Given the description of an element on the screen output the (x, y) to click on. 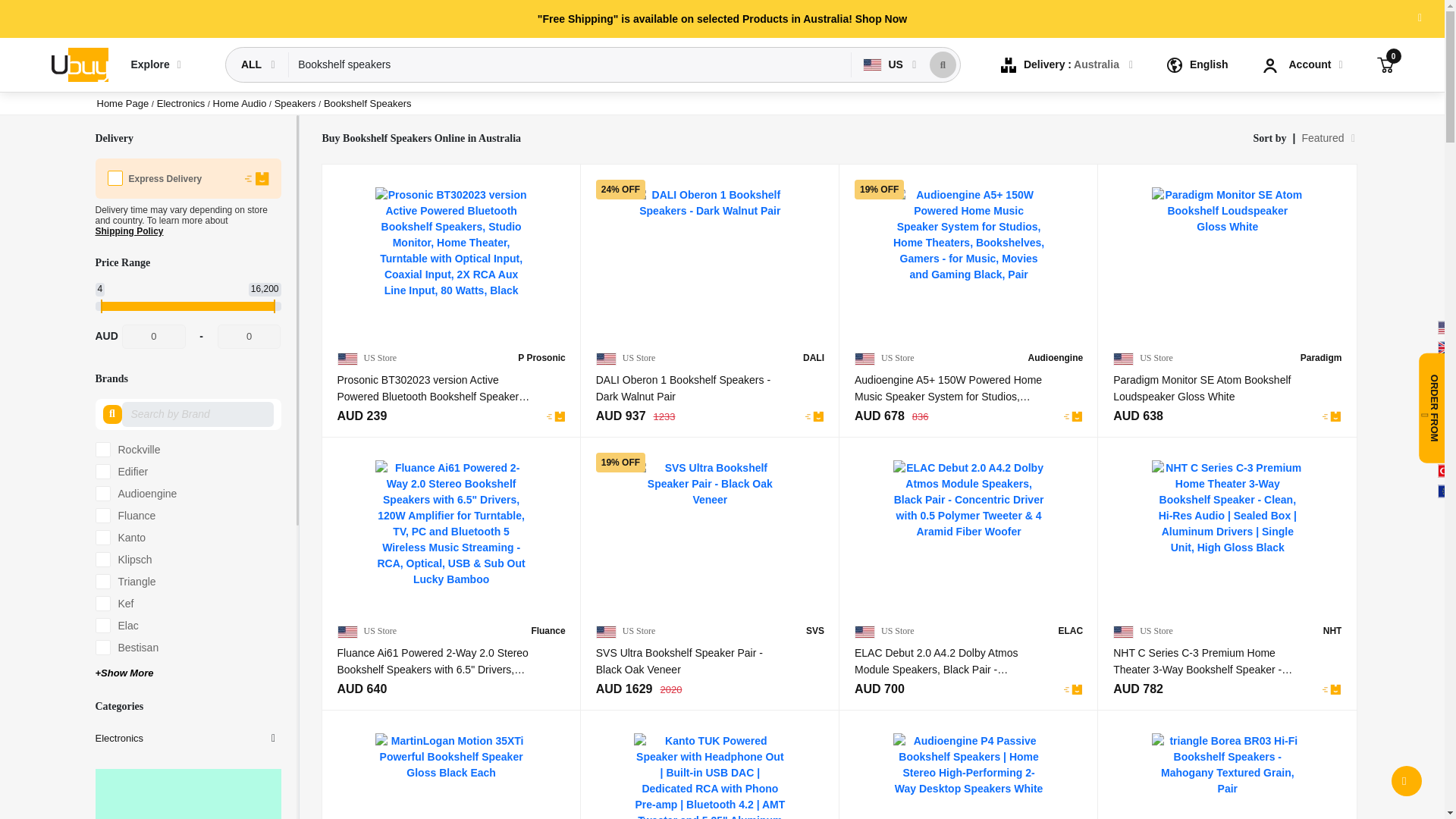
Home Page (123, 102)
US (882, 64)
Electronics (182, 102)
Ubuy (78, 64)
0 (1385, 64)
Home Audio (240, 102)
0 (248, 336)
0 (154, 336)
US (884, 64)
Bookshelf speakers (569, 64)
